Given the description of an element on the screen output the (x, y) to click on. 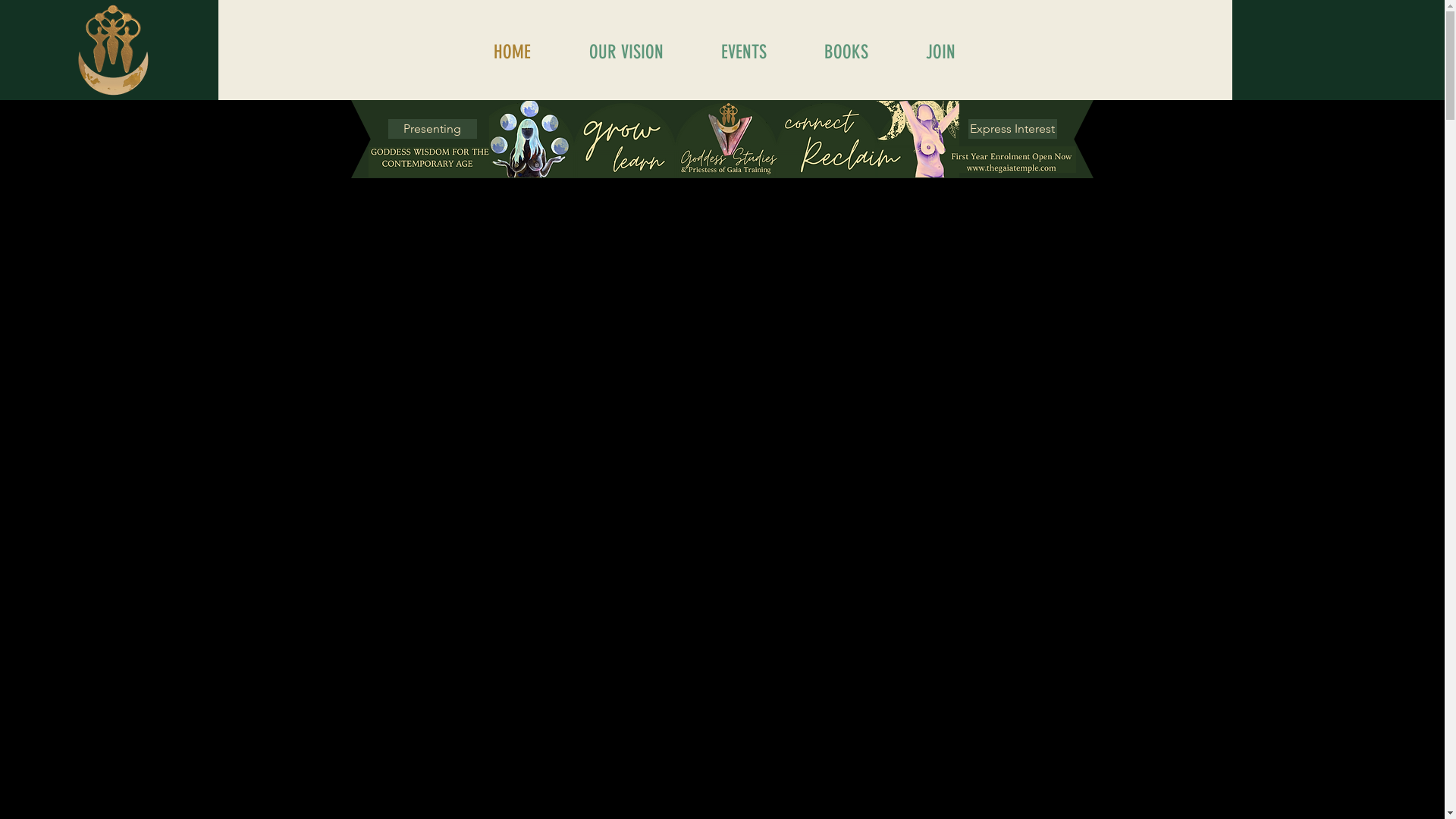
_tGT_GSPOG_humanitix banners (2).png Element type: hover (723, 138)
JOIN Element type: text (940, 52)
_tGT_GSPOG_humanitix banners (2).png Element type: hover (1011, 159)
Embedded Content Element type: hover (1339, 51)
OUR VISION Element type: text (625, 52)
Express Interest Element type: text (1011, 128)
HOME Element type: text (511, 52)
_tGT_GSPOG_humanitix banners (2).png Element type: hover (432, 162)
EVENTS Element type: text (743, 52)
